Given the description of an element on the screen output the (x, y) to click on. 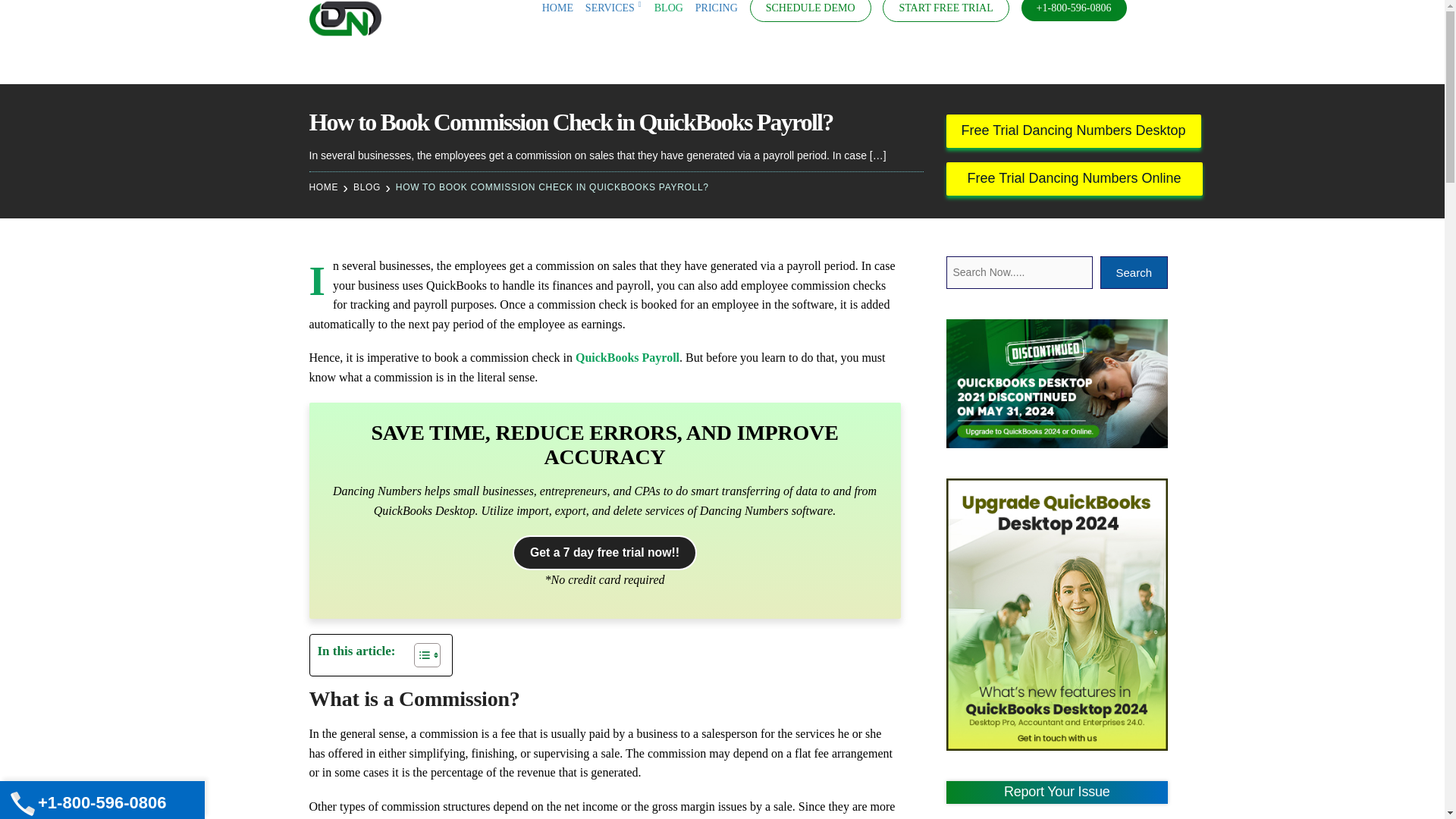
SCHEDULE DEMO (809, 8)
QuickBooks Desktop 2021 Service Discontinuation Policy (1057, 383)
BLOG (667, 8)
HOME (557, 8)
SERVICES (613, 8)
START FREE TRIAL (945, 8)
New Features of QuickBooks Desktop 2024 (1057, 614)
PRICING (716, 8)
Search (18, 18)
